Given the description of an element on the screen output the (x, y) to click on. 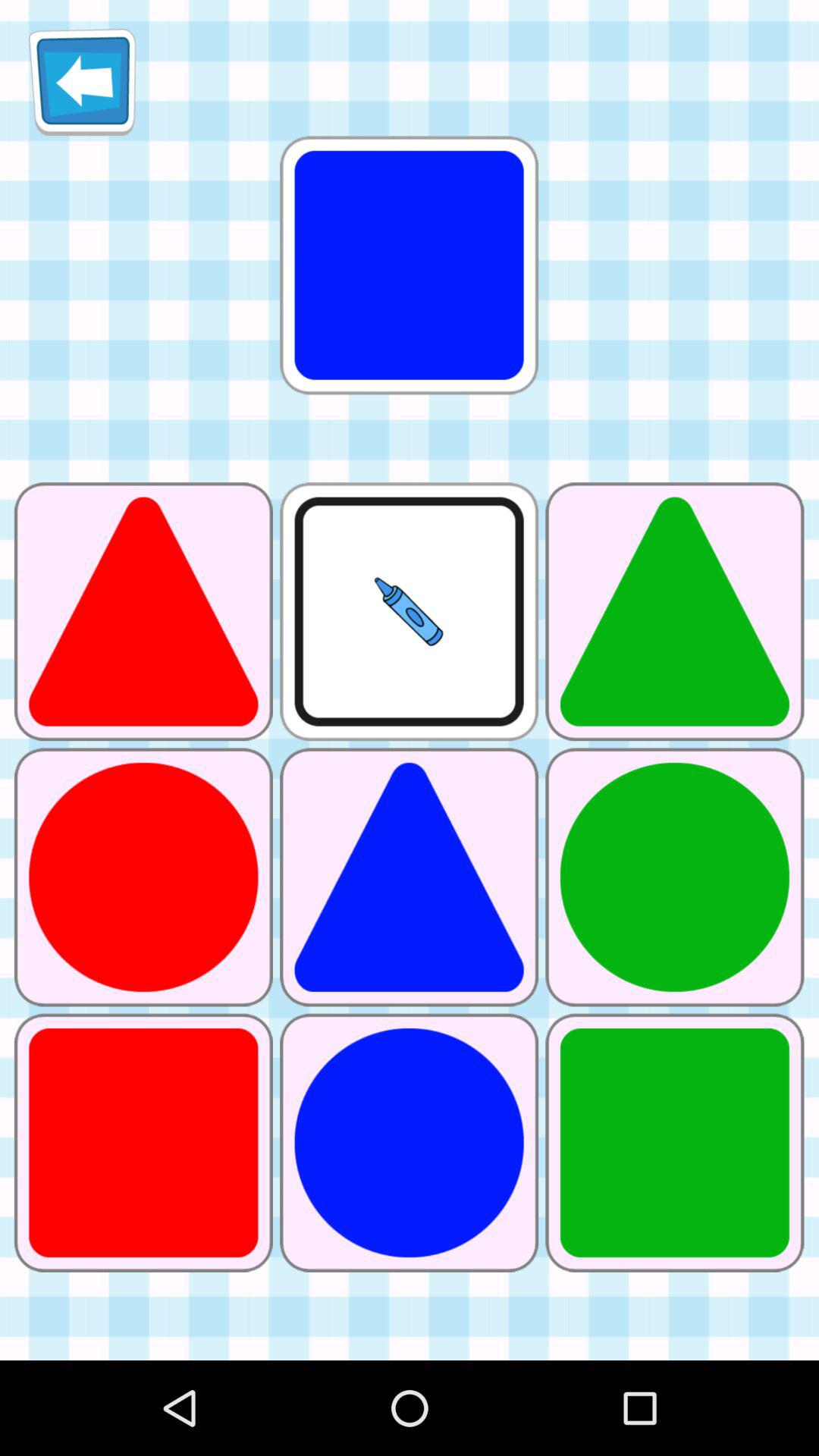
tap item at the top (409, 265)
